Given the description of an element on the screen output the (x, y) to click on. 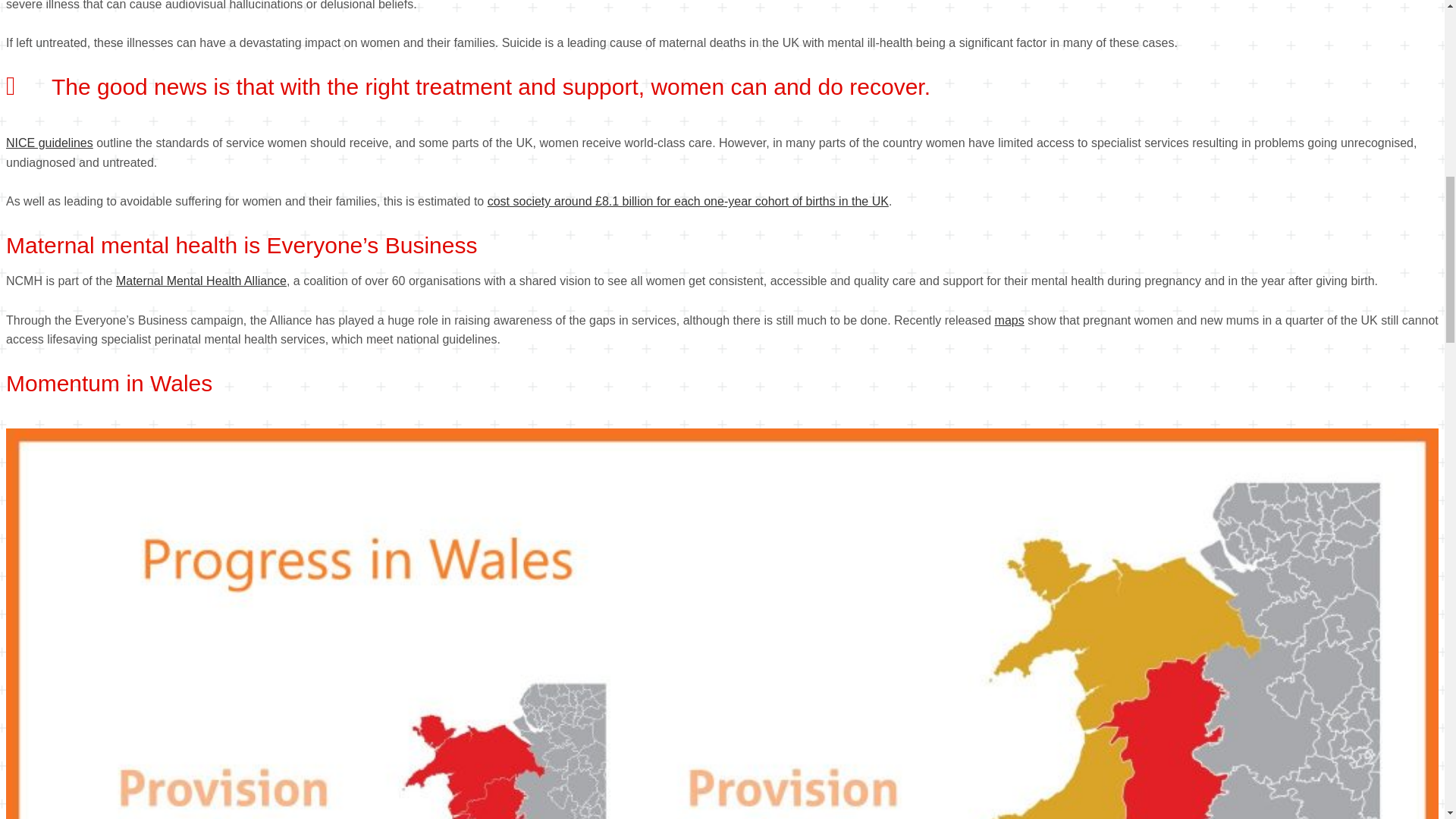
maps (1009, 319)
NICE guidelines (49, 142)
Maternal Mental Health Alliance (201, 280)
